Given the description of an element on the screen output the (x, y) to click on. 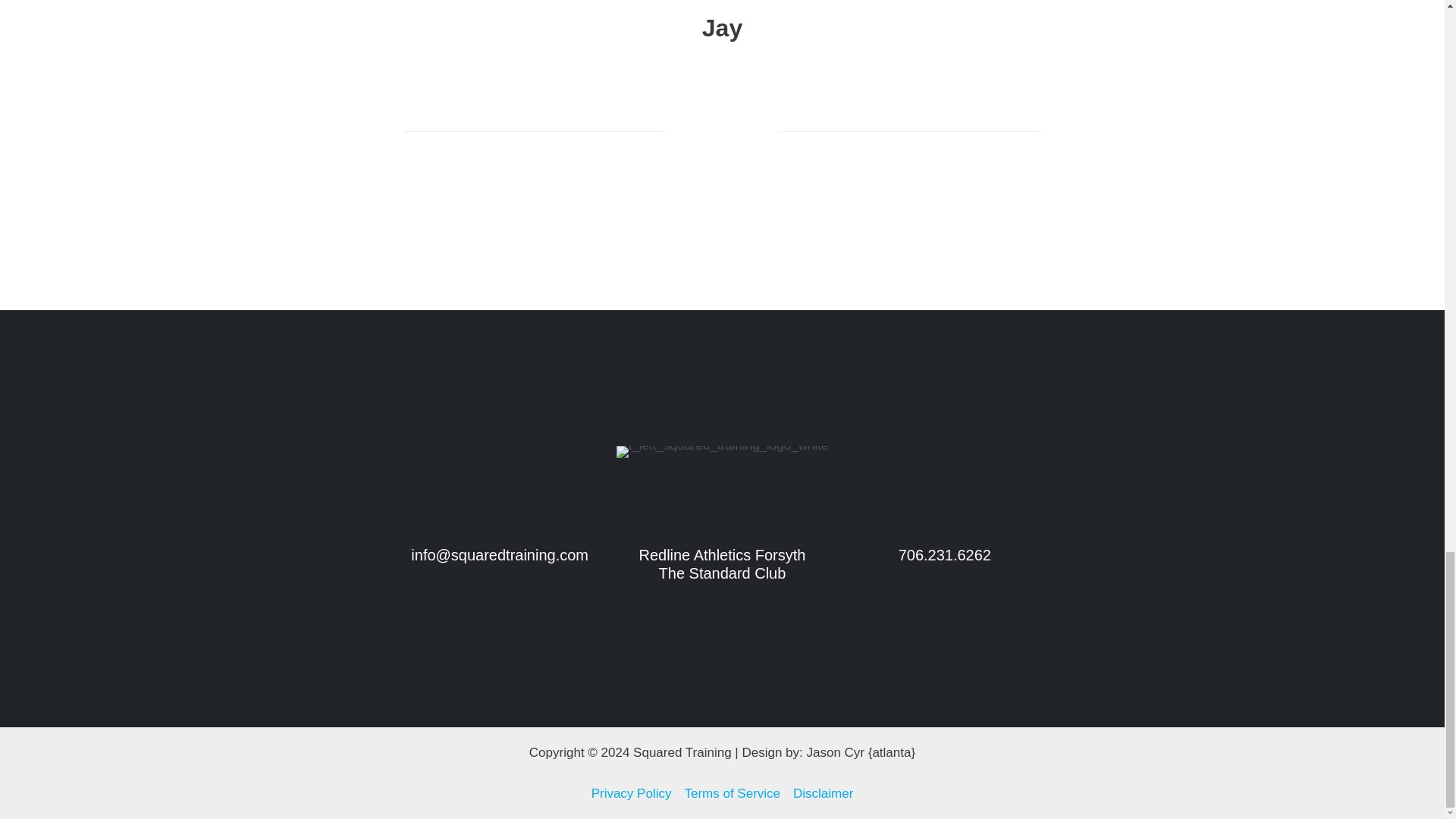
The Standard Club (722, 573)
Redline Athletics Forsyth (722, 555)
706.231.6262 (944, 555)
Terms of Service (732, 793)
Disclaimer (820, 793)
Privacy Policy (634, 793)
